Given the description of an element on the screen output the (x, y) to click on. 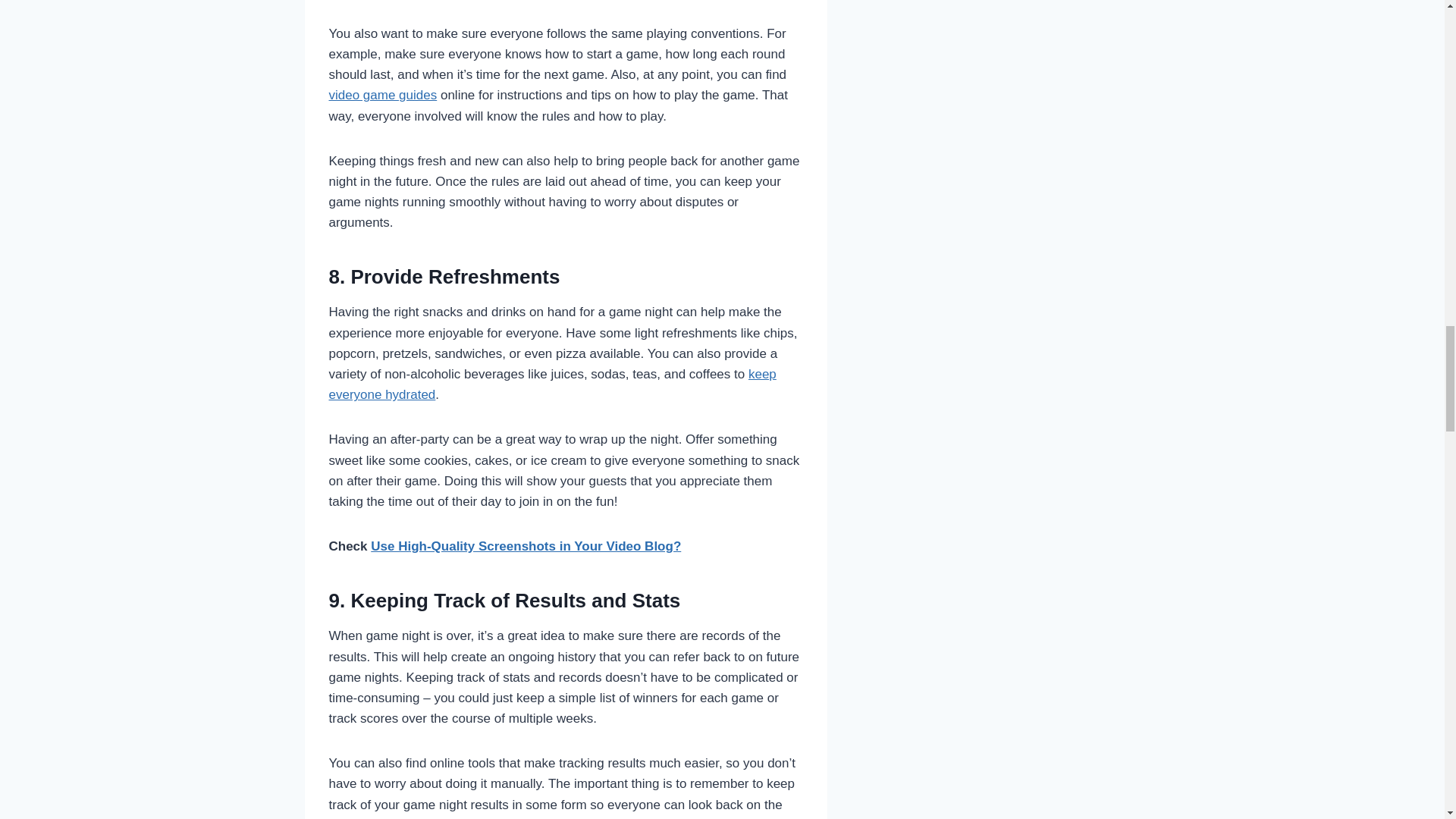
Use High-Quality Screenshots in Your Video Blog? (526, 545)
keep everyone hydrated (552, 384)
video game guides (383, 94)
